Given the description of an element on the screen output the (x, y) to click on. 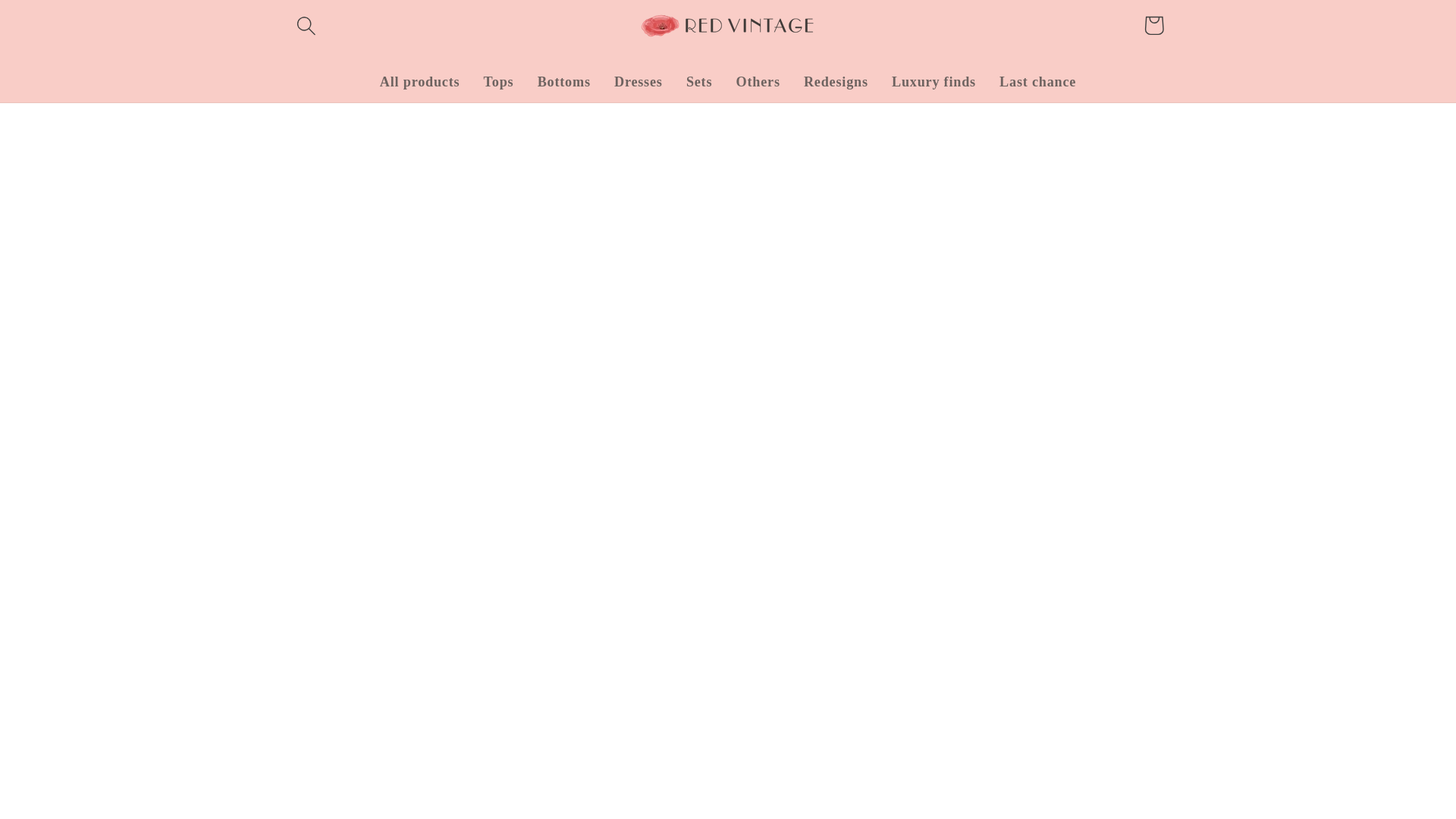
Tops (498, 81)
Luxury finds (933, 81)
Dresses (638, 81)
Last chance (1037, 81)
Skip to content (60, 23)
All products (419, 81)
Sets (698, 81)
Bottoms (563, 81)
Redesigns (835, 81)
Cart (1153, 25)
